Given the description of an element on the screen output the (x, y) to click on. 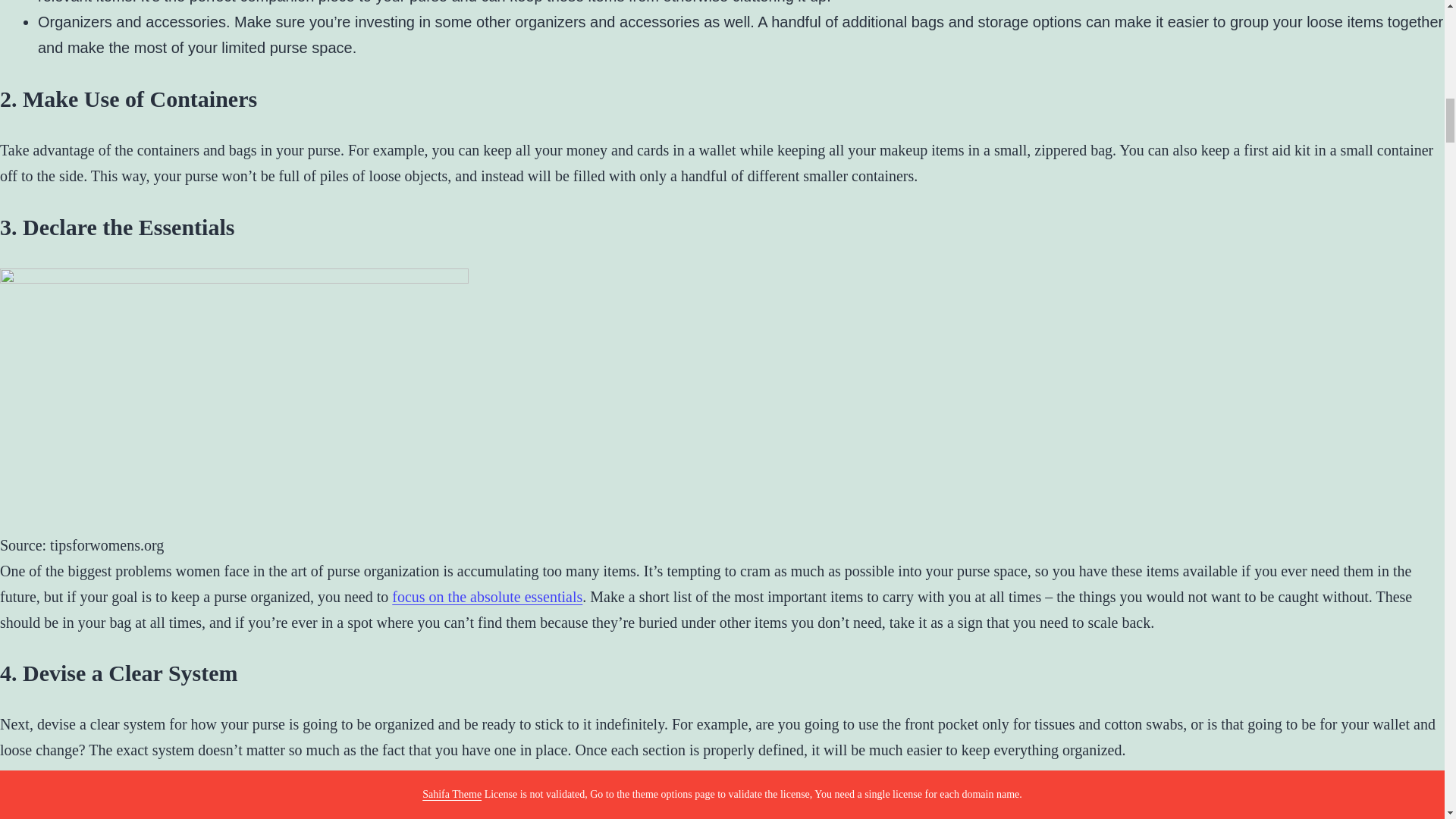
focus on the absolute essentials (486, 596)
